Given the description of an element on the screen output the (x, y) to click on. 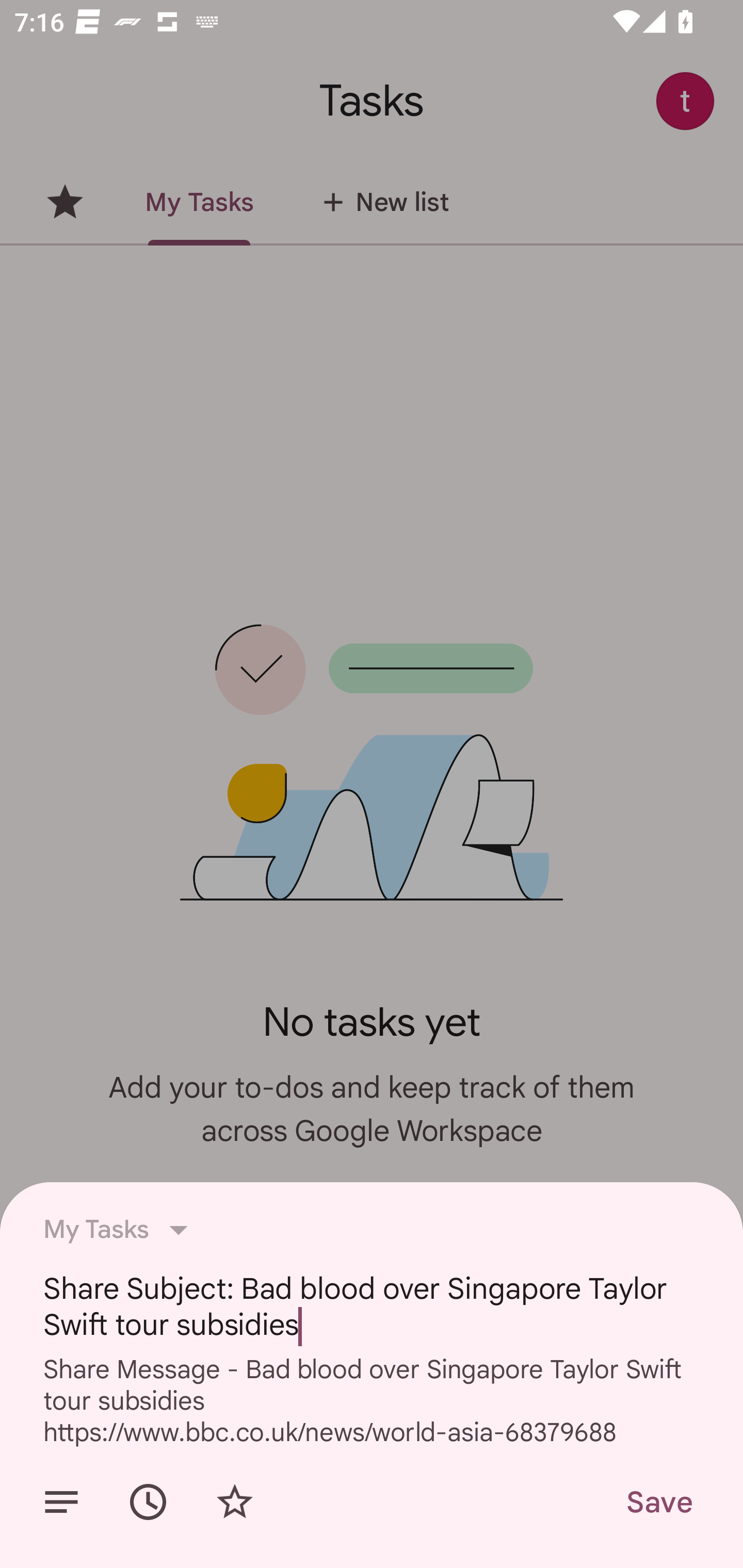
My Tasks List, My Tasks selected, 1 of 1 (121, 1229)
Save (659, 1501)
Add details (60, 1501)
Set date/time (147, 1501)
Add star (234, 1501)
